Given the description of an element on the screen output the (x, y) to click on. 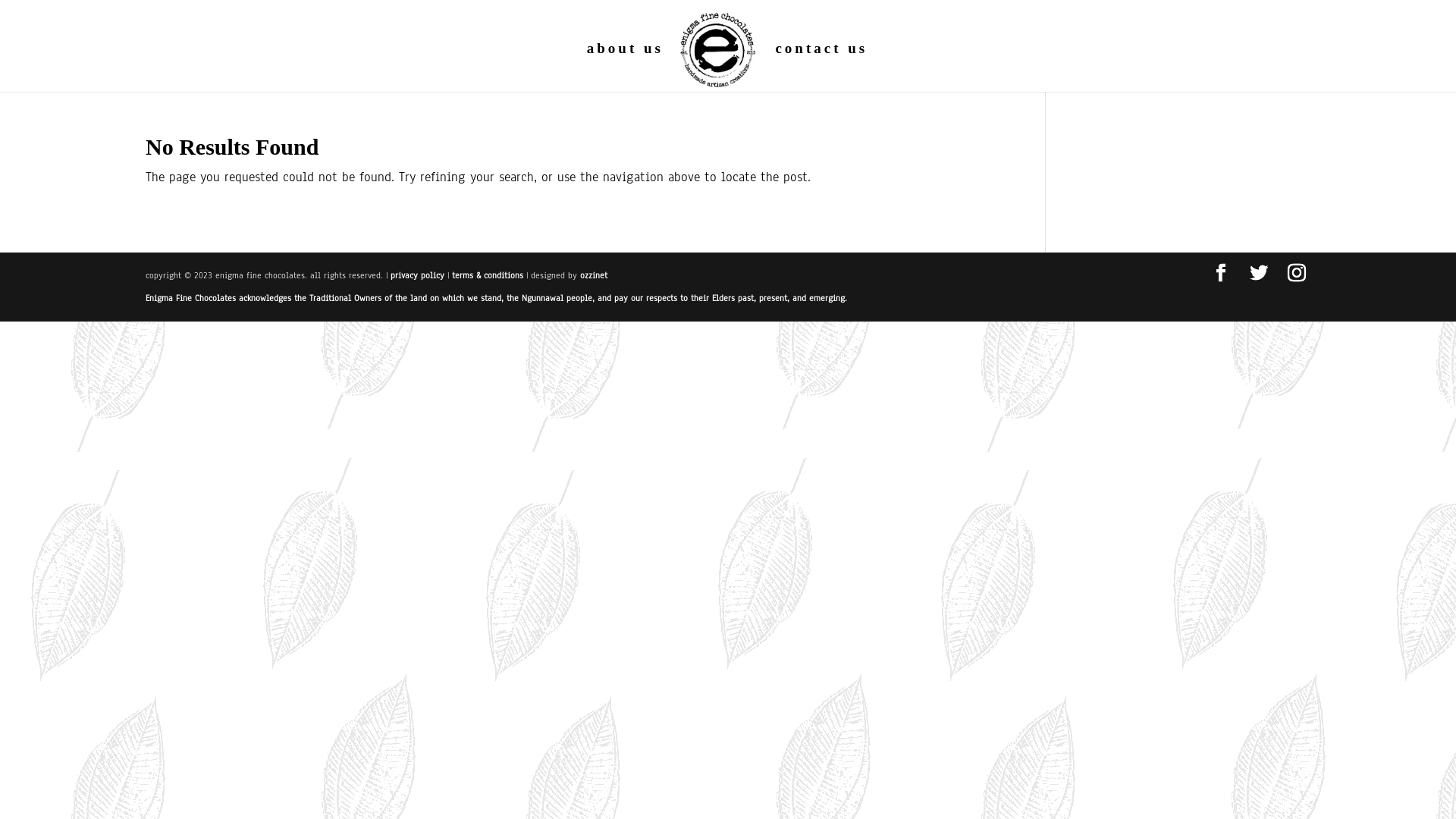
privacy policy Element type: text (418, 275)
about us Element type: text (624, 67)
contact us Element type: text (821, 67)
ozzinet Element type: text (593, 275)
terms & conditions Element type: text (488, 275)
